Given the description of an element on the screen output the (x, y) to click on. 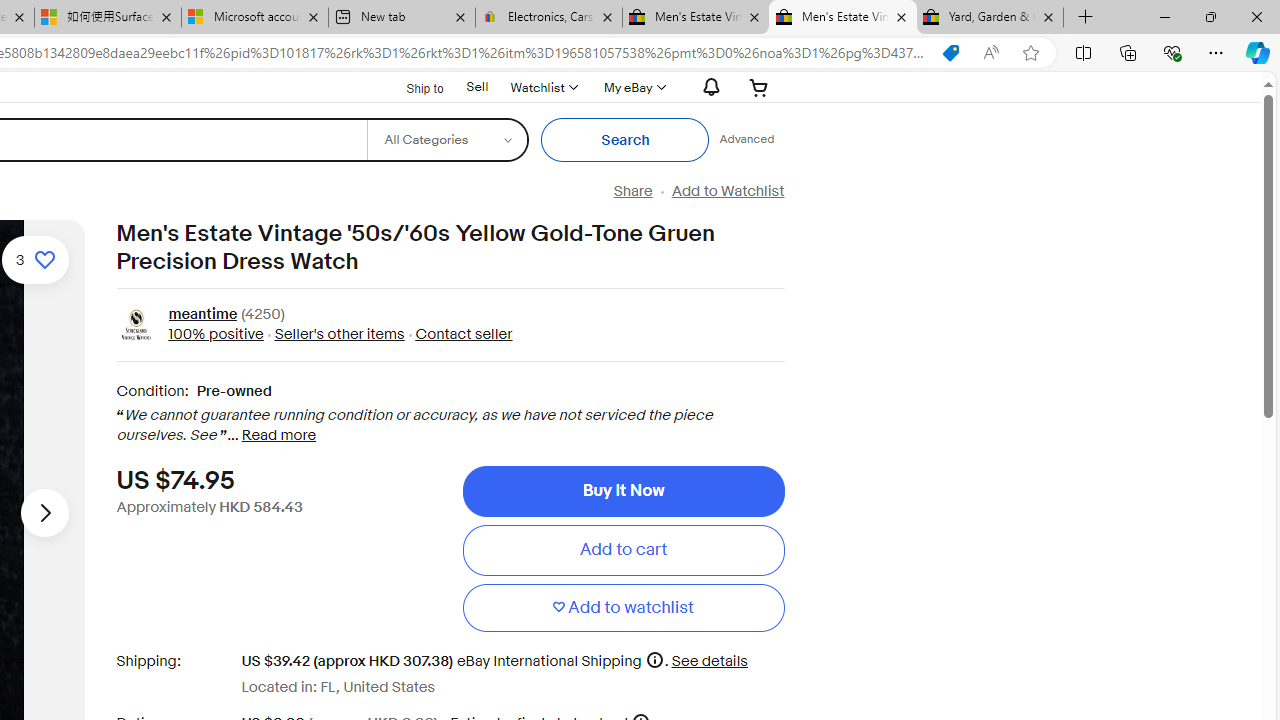
WatchlistExpand Watch List (543, 87)
100% positive (215, 334)
Ship to (412, 88)
Sell (476, 87)
Seller's other items (338, 334)
Contact seller (463, 334)
Your shopping cart (759, 87)
See details for shipping (708, 660)
Yard, Garden & Outdoor Living (989, 17)
Read more about condition (278, 435)
(4250) (262, 315)
